Given the description of an element on the screen output the (x, y) to click on. 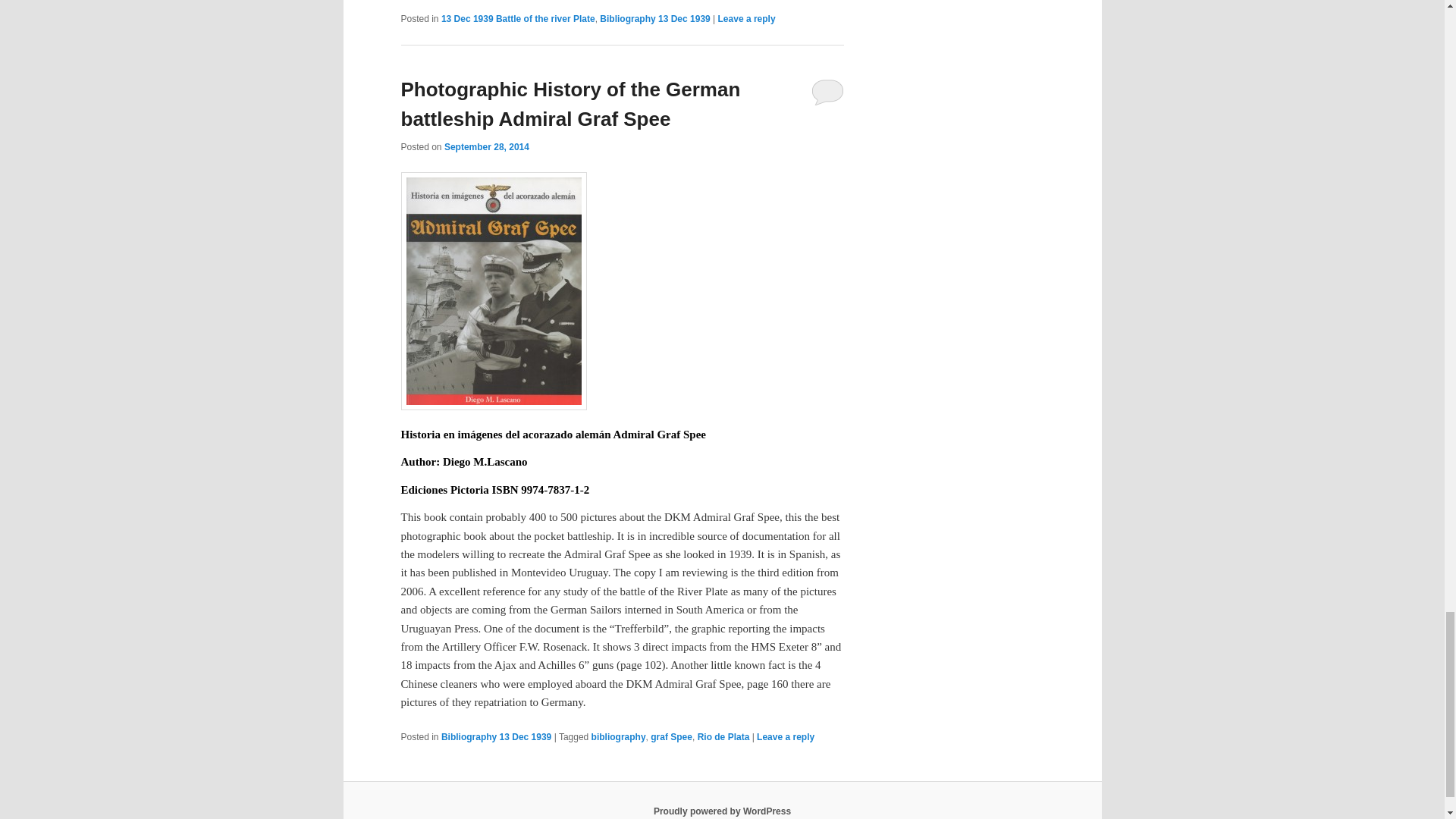
Leave a reply (746, 18)
13 Dec 1939 Battle of the river Plate (518, 18)
Semantic Personal Publishing Platform (721, 810)
10:42 pm (486, 146)
September 28, 2014 (486, 146)
Bibliography 13 Dec 1939 (654, 18)
